Given the description of an element on the screen output the (x, y) to click on. 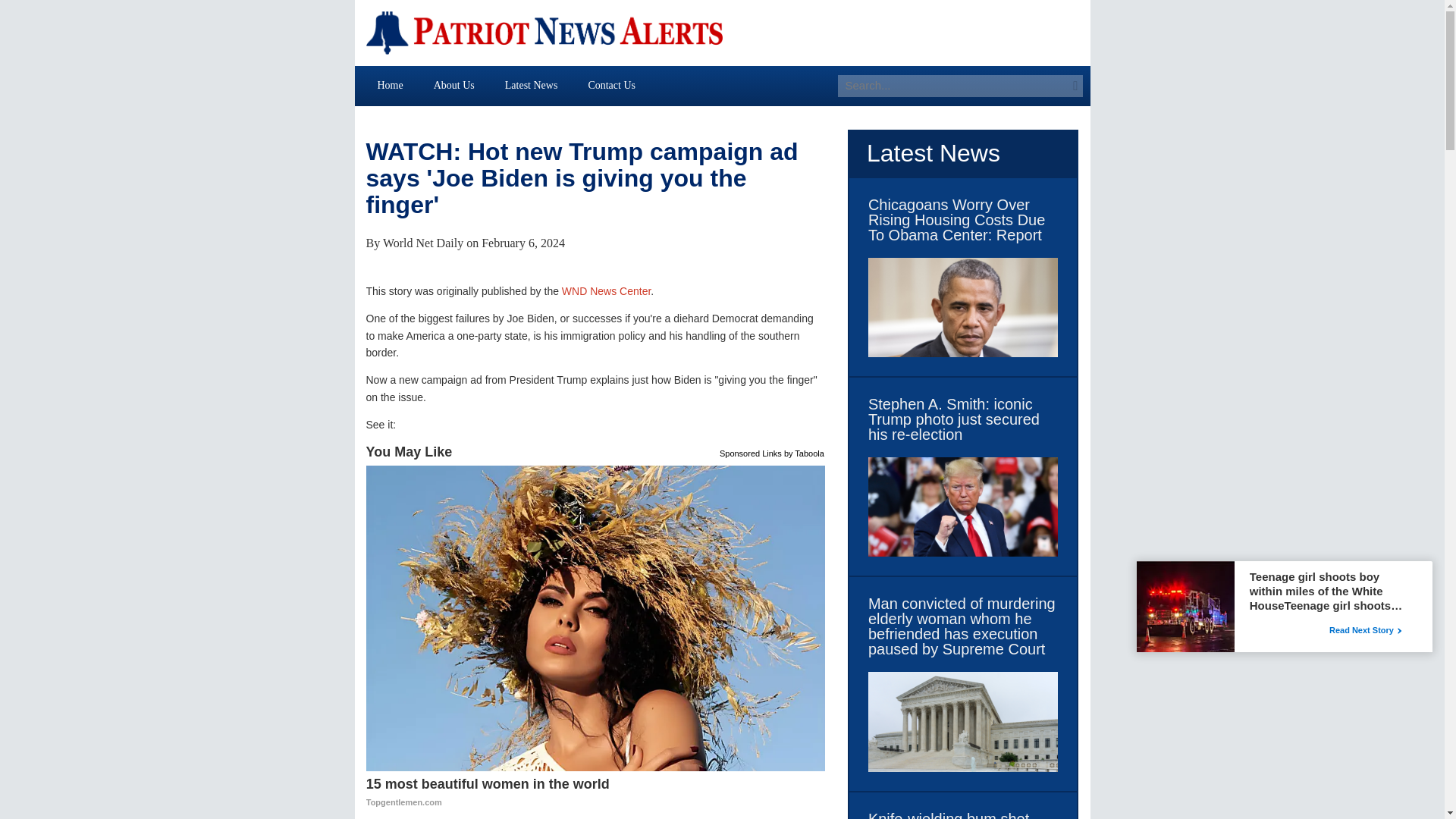
Home (390, 85)
World Net Daily (422, 242)
Latest News (595, 792)
15 most beautiful women in the world (531, 85)
WND News Center (595, 792)
by Taboola (606, 291)
Search for: (804, 451)
Sponsored Links (952, 86)
Contact Us (750, 451)
15 most beautiful women in the world (611, 85)
